Given the description of an element on the screen output the (x, y) to click on. 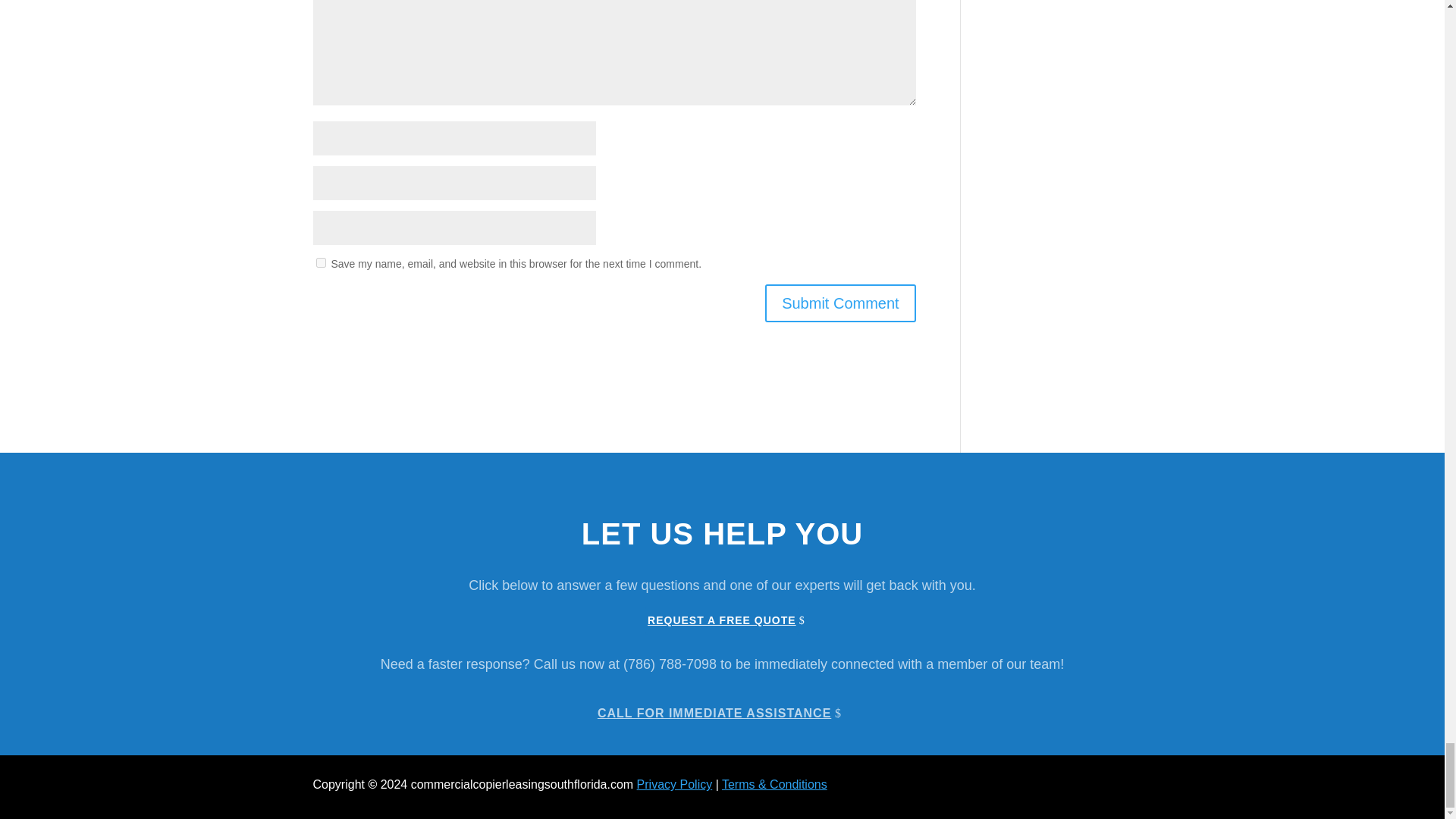
Submit Comment (840, 303)
Submit Comment (840, 303)
yes (319, 262)
